Given the description of an element on the screen output the (x, y) to click on. 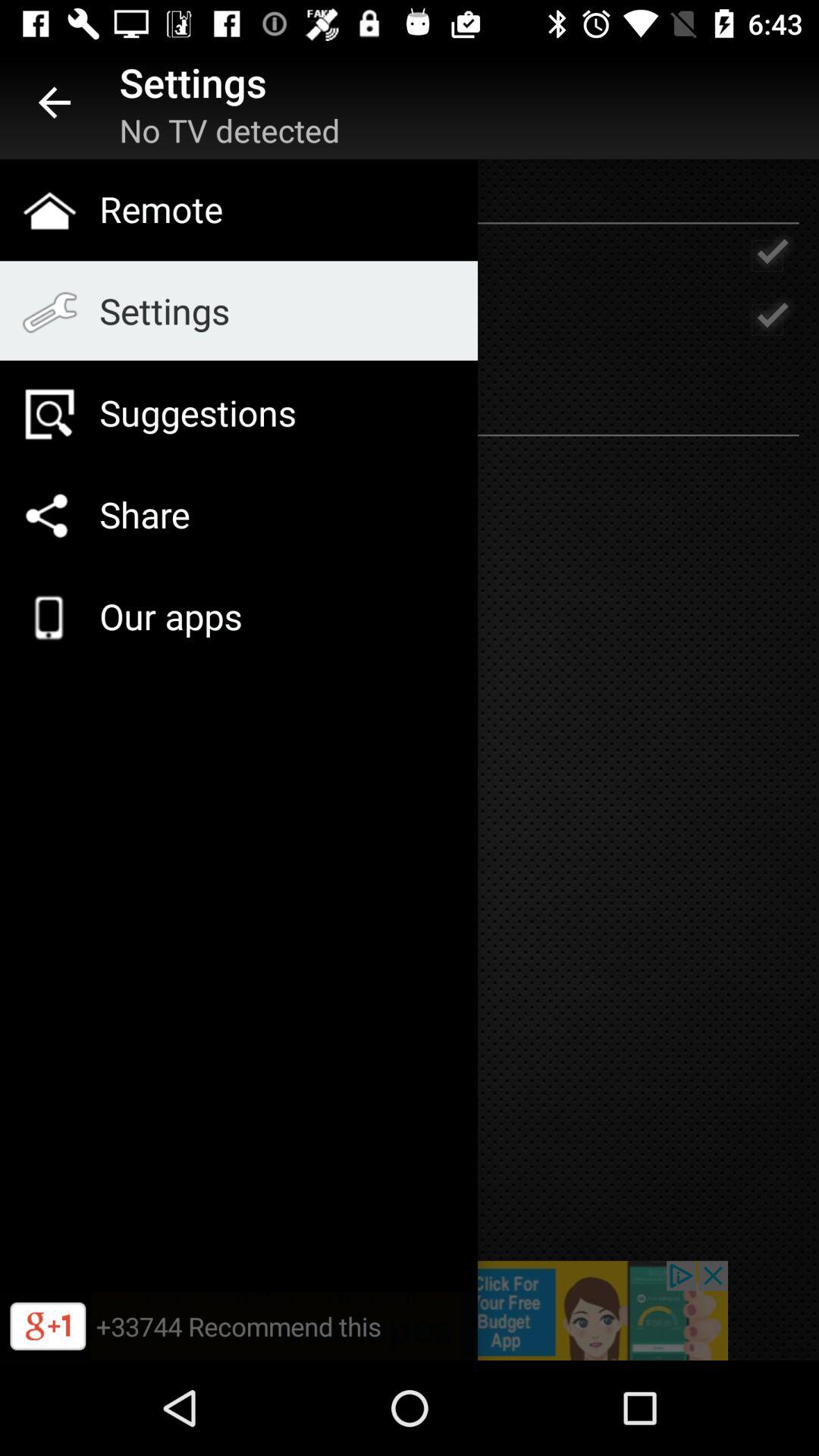
click on home icon which is on left side of remote (49, 210)
click on the cellphone image icon to the left of our apps text (49, 617)
